Given the description of an element on the screen output the (x, y) to click on. 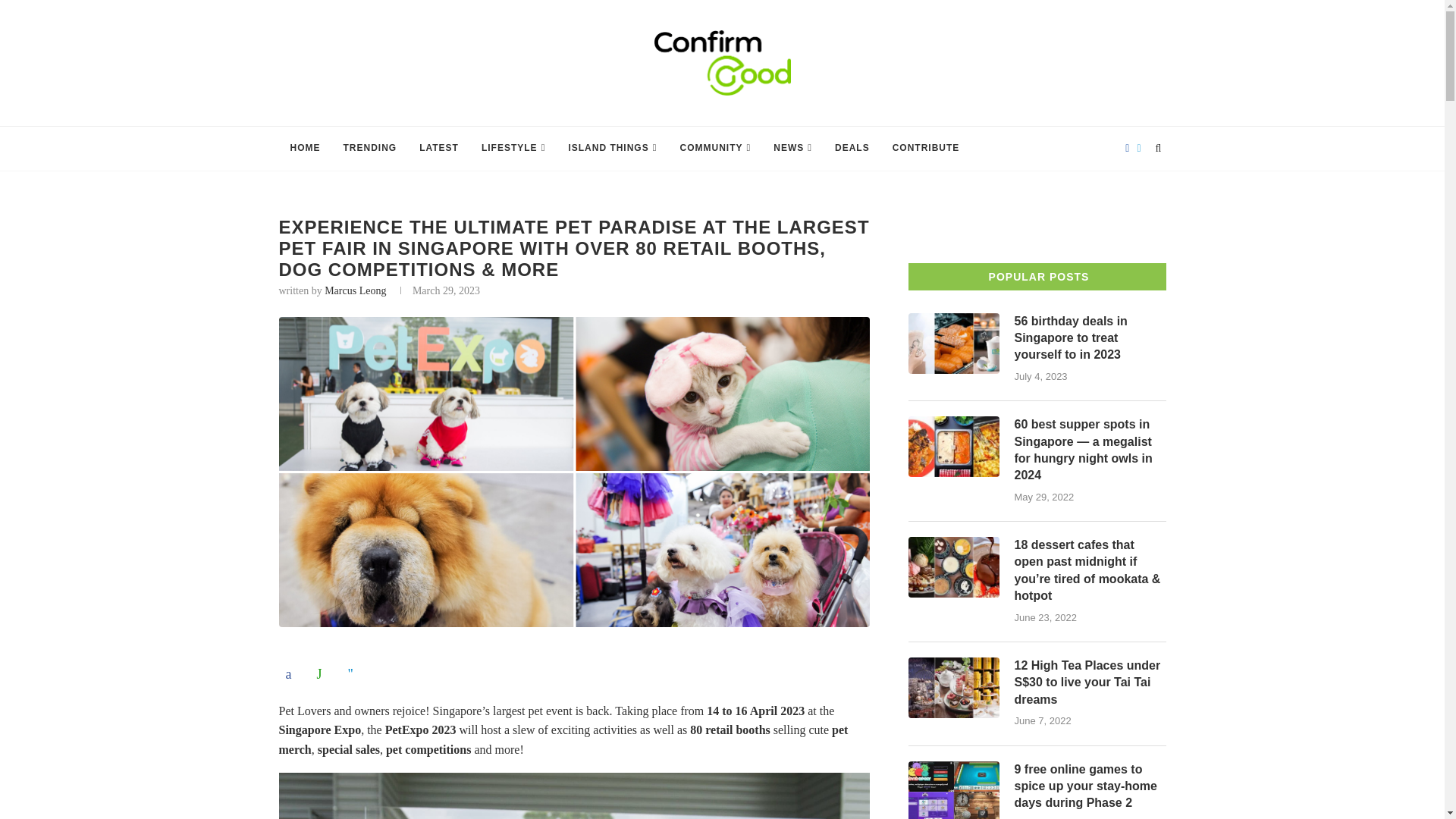
LATEST (438, 148)
Share on Telegram (354, 673)
Share on WhatsApp (322, 673)
TRENDING (370, 148)
Share on Facebook (292, 673)
HOME (305, 148)
ISLAND THINGS (612, 148)
LIFESTYLE (513, 148)
